Given the description of an element on the screen output the (x, y) to click on. 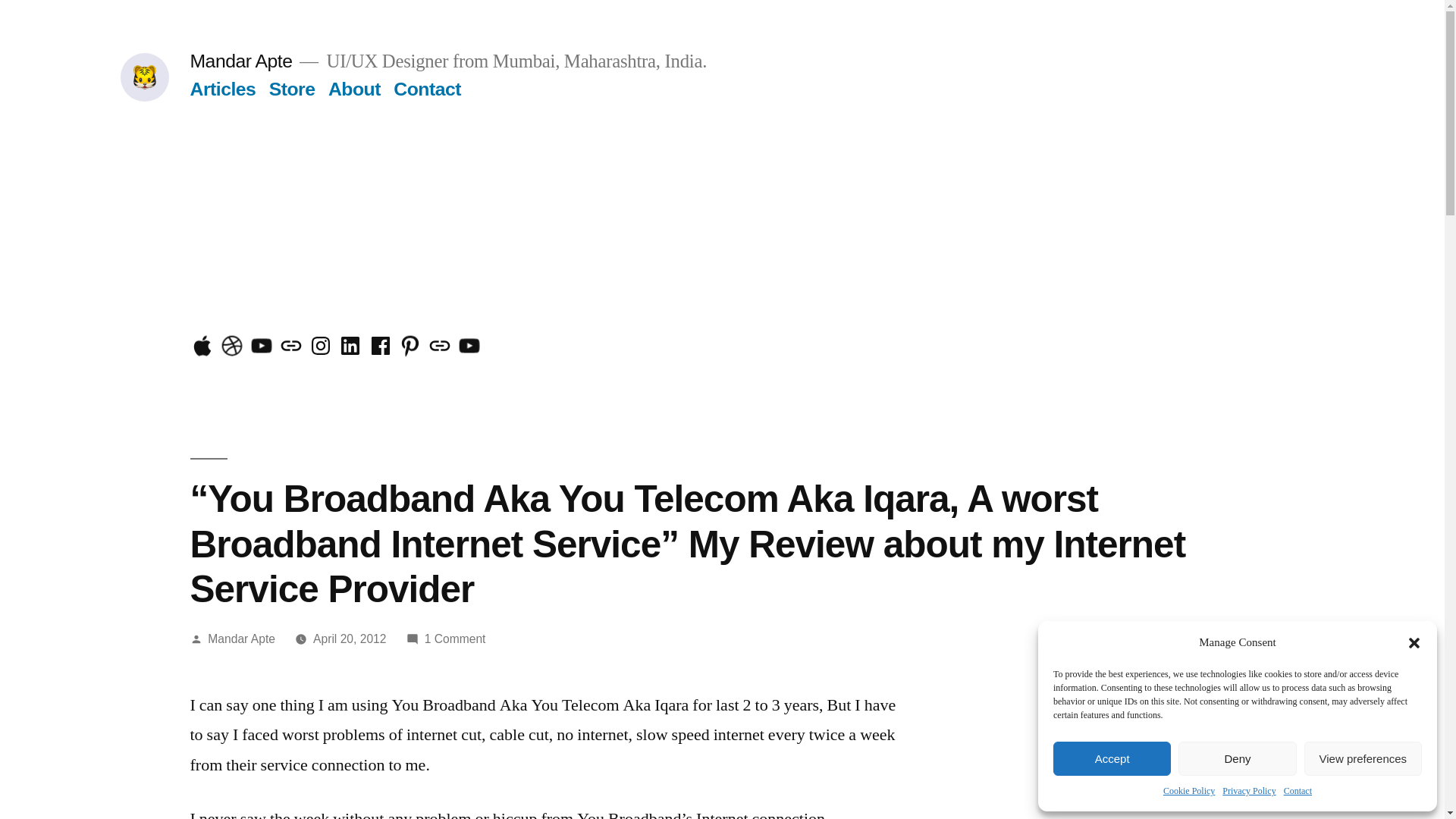
LinkedIn (349, 345)
Apple Developer Profile (201, 345)
Facebook (380, 345)
Instagram (320, 345)
Contact (1297, 791)
Privacy Policy (1249, 791)
Mandar Apte (240, 60)
YouTube (260, 345)
Pinterest (409, 345)
Articles (222, 88)
Accept (1111, 758)
Mandar Apte (241, 638)
Dribbble (231, 345)
Store (292, 88)
